Given the description of an element on the screen output the (x, y) to click on. 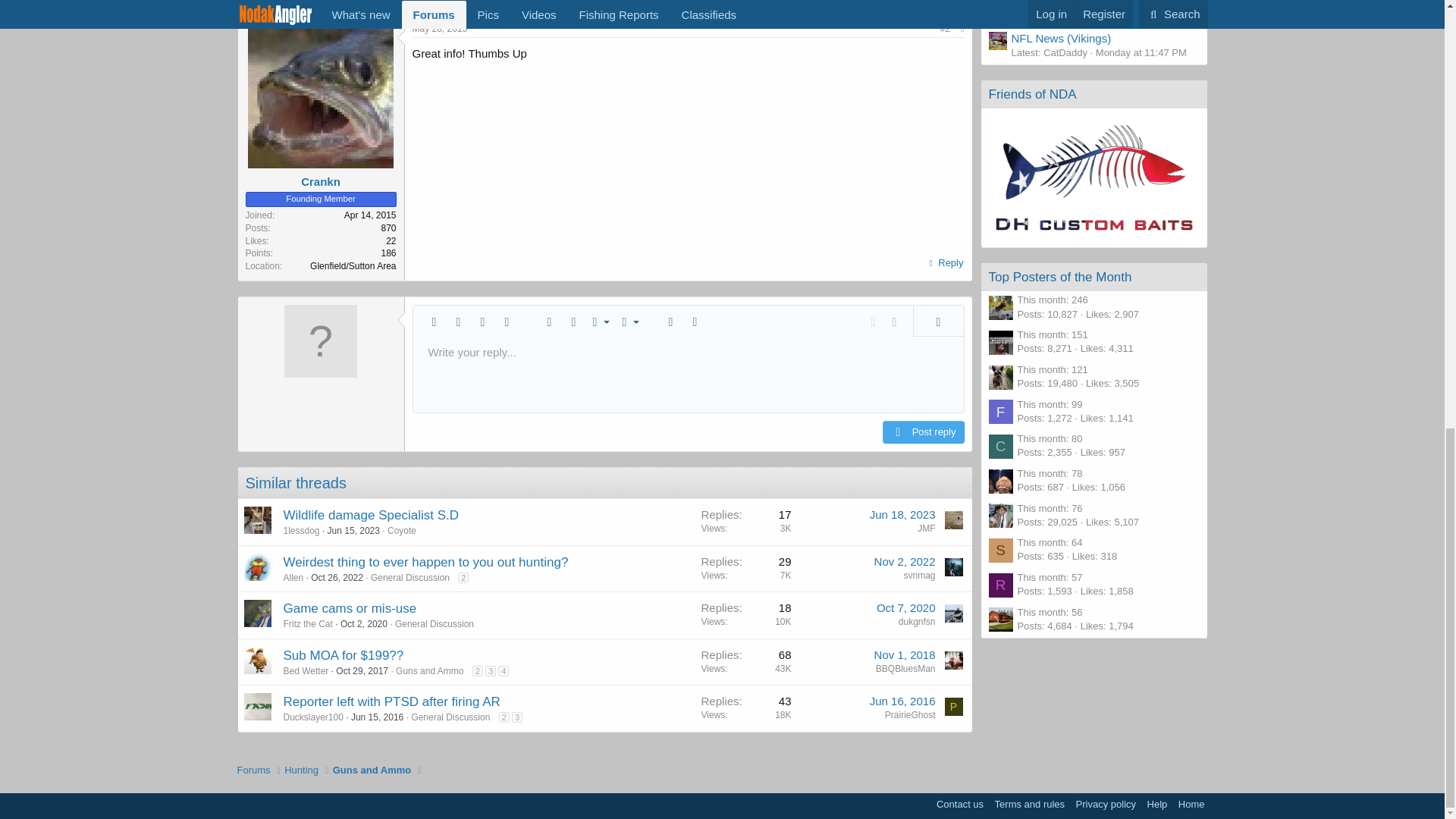
May 28, 2015 at 9:54 PM (439, 28)
Reply, quoting this message (944, 262)
